Given the description of an element on the screen output the (x, y) to click on. 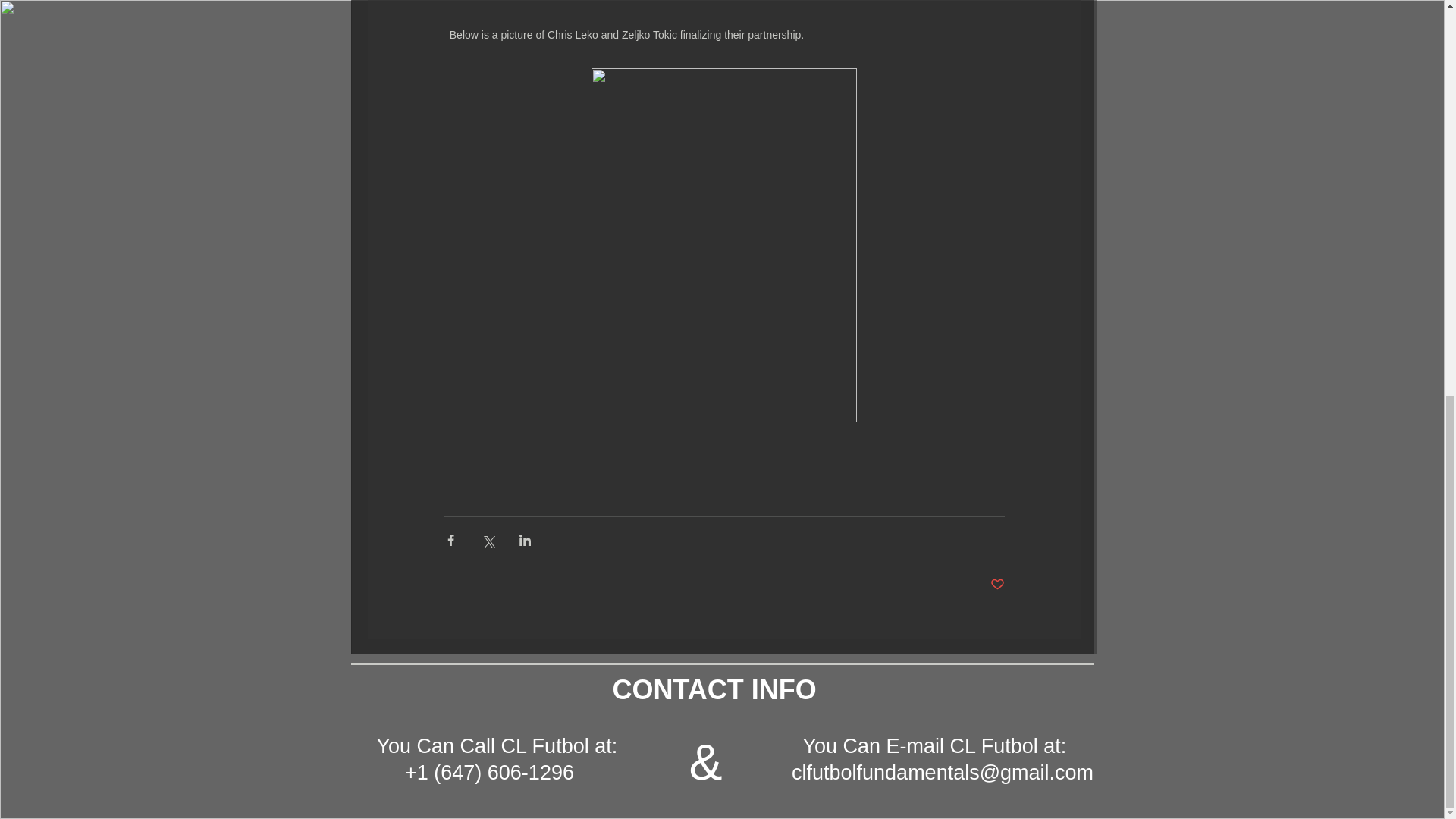
Post not marked as liked (997, 584)
